Given the description of an element on the screen output the (x, y) to click on. 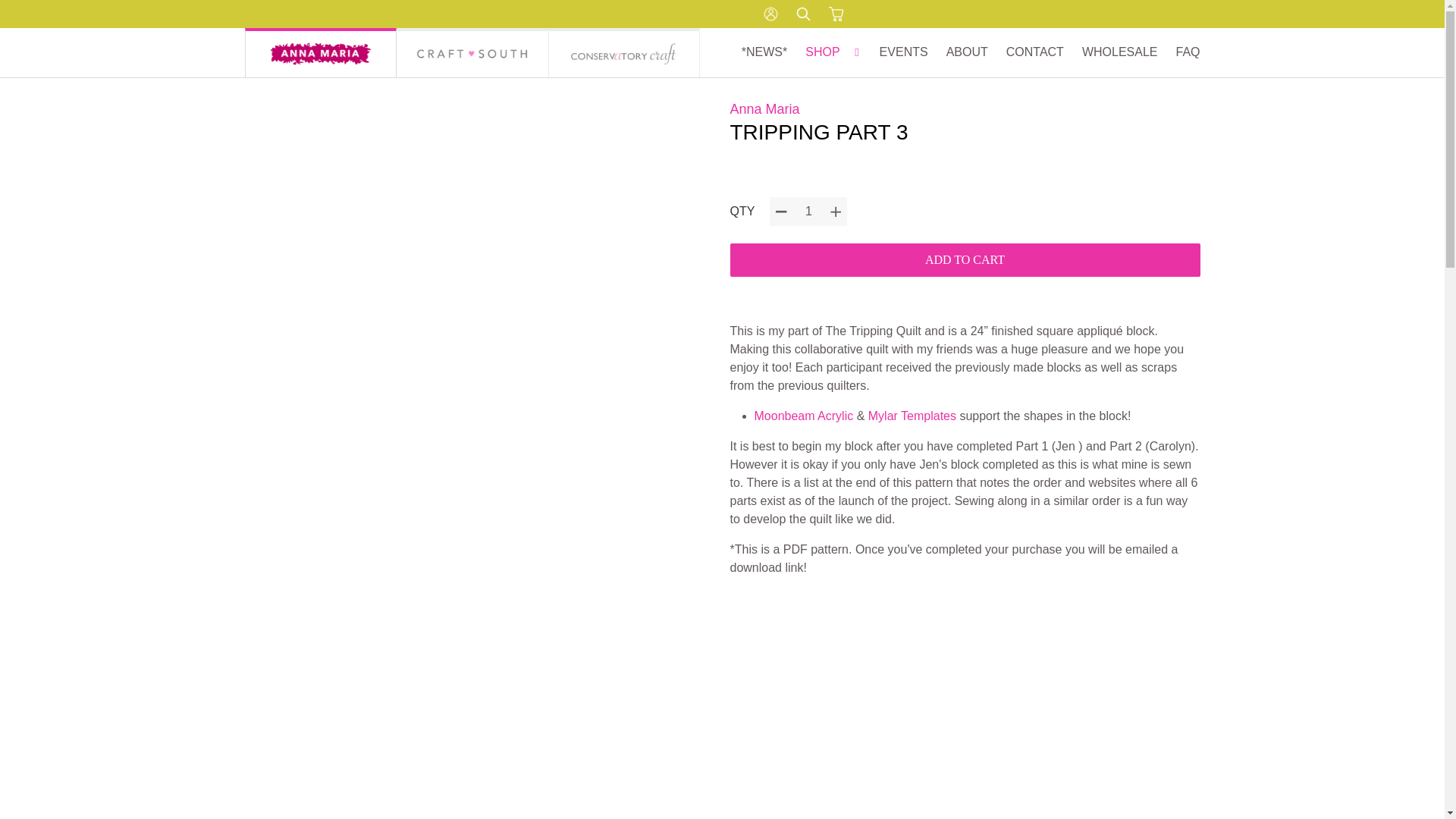
1 (808, 211)
Anna Maria (764, 109)
Moonbeam Mylar Template Set (911, 415)
SHOP (832, 52)
Moonbeam Acrylic Template Set (803, 415)
Anna Maria (320, 51)
